Given the description of an element on the screen output the (x, y) to click on. 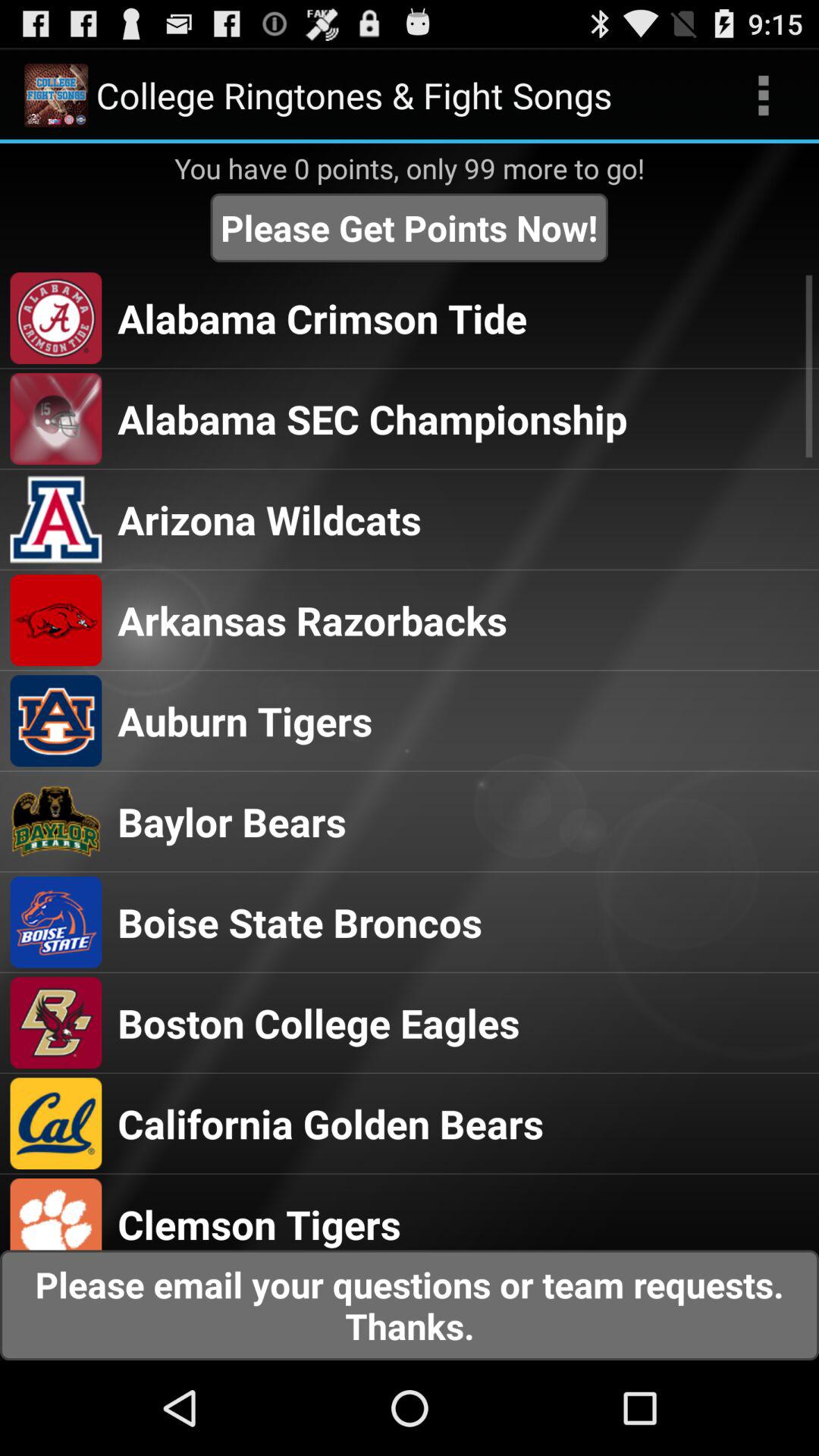
launch icon above baylor bears (244, 720)
